Given the description of an element on the screen output the (x, y) to click on. 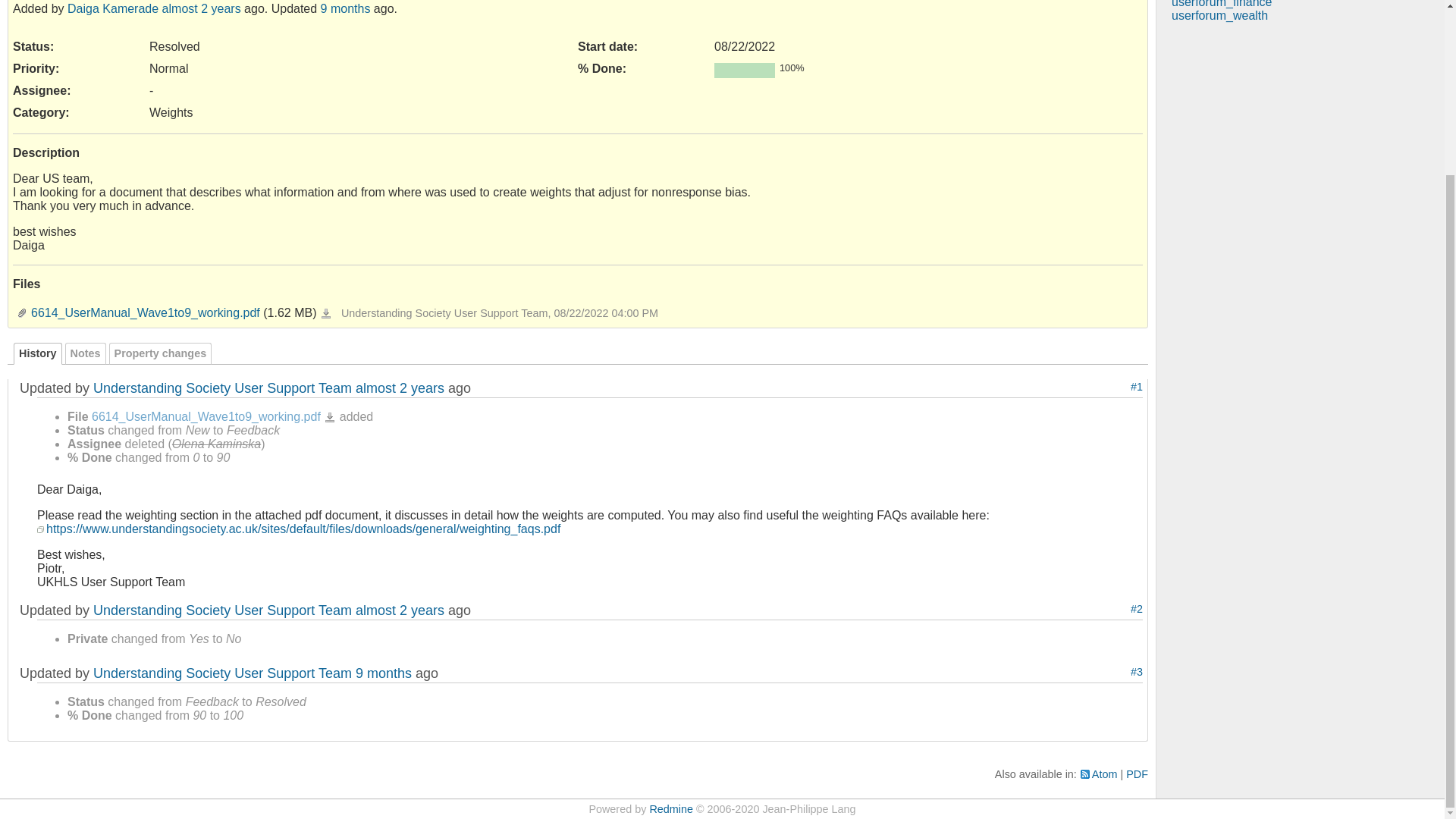
9 months (383, 672)
Notes (85, 353)
PDF (1136, 774)
almost 2 years (399, 387)
Property changes (160, 353)
Download (329, 417)
Atom (1099, 774)
almost 2 years (399, 610)
History (37, 353)
Understanding Society User Support Team (222, 387)
